Given the description of an element on the screen output the (x, y) to click on. 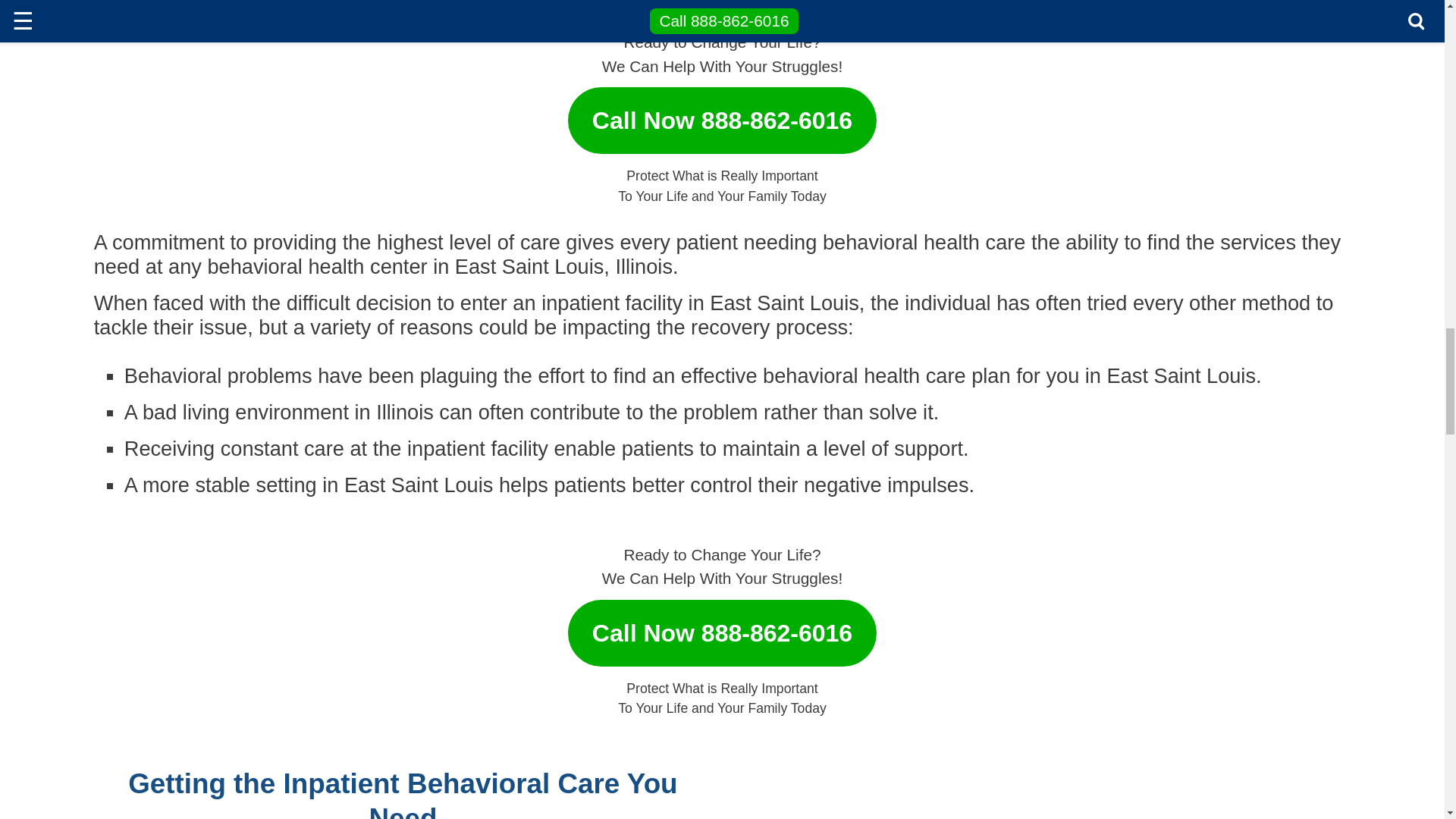
Call Now 888-862-6016 (722, 625)
Call Now 888-862-6016 (722, 113)
